Given the description of an element on the screen output the (x, y) to click on. 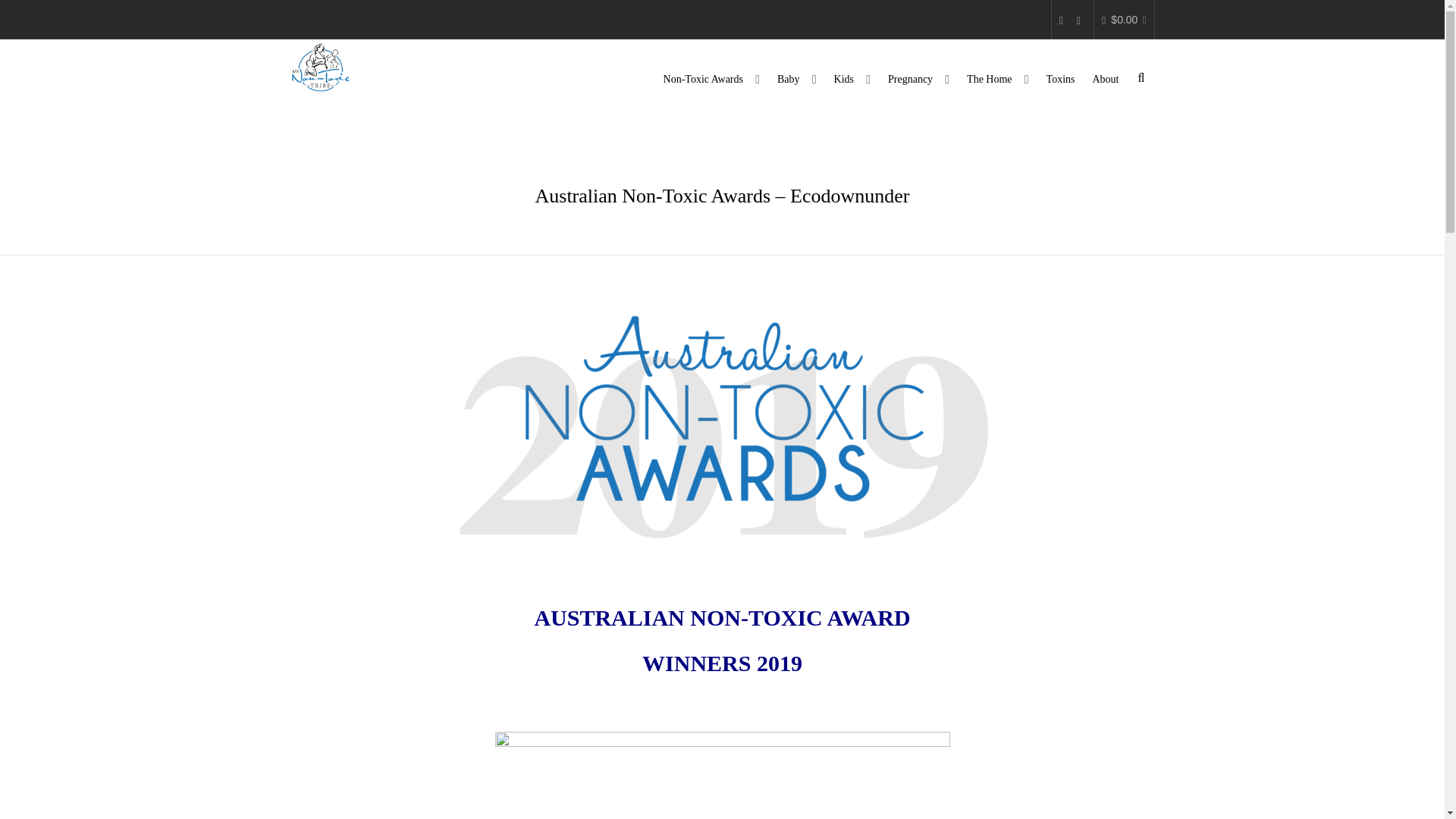
Baby (796, 76)
Non-Toxic Awards (711, 76)
Awards Logo - Copy (722, 418)
